Given the description of an element on the screen output the (x, y) to click on. 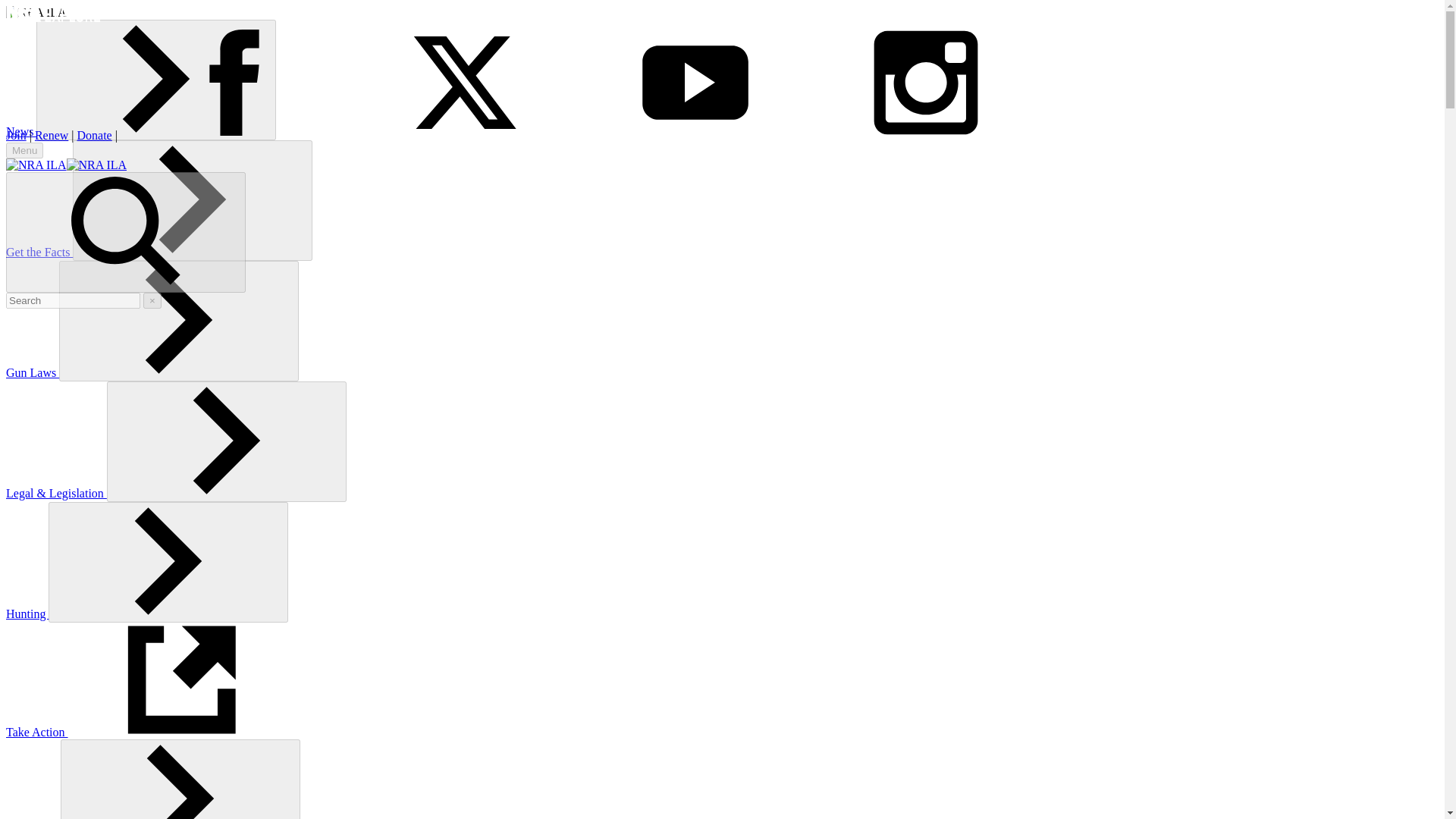
Gun Laws (32, 372)
Close Search (151, 300)
Hunting (26, 613)
Take Action (150, 731)
Search (125, 231)
Instagram (925, 134)
Menu (24, 150)
Facebook (233, 134)
Youtube (694, 134)
Get the Facts (38, 251)
Facebook (233, 82)
Twitter (464, 134)
News (20, 131)
